Given the description of an element on the screen output the (x, y) to click on. 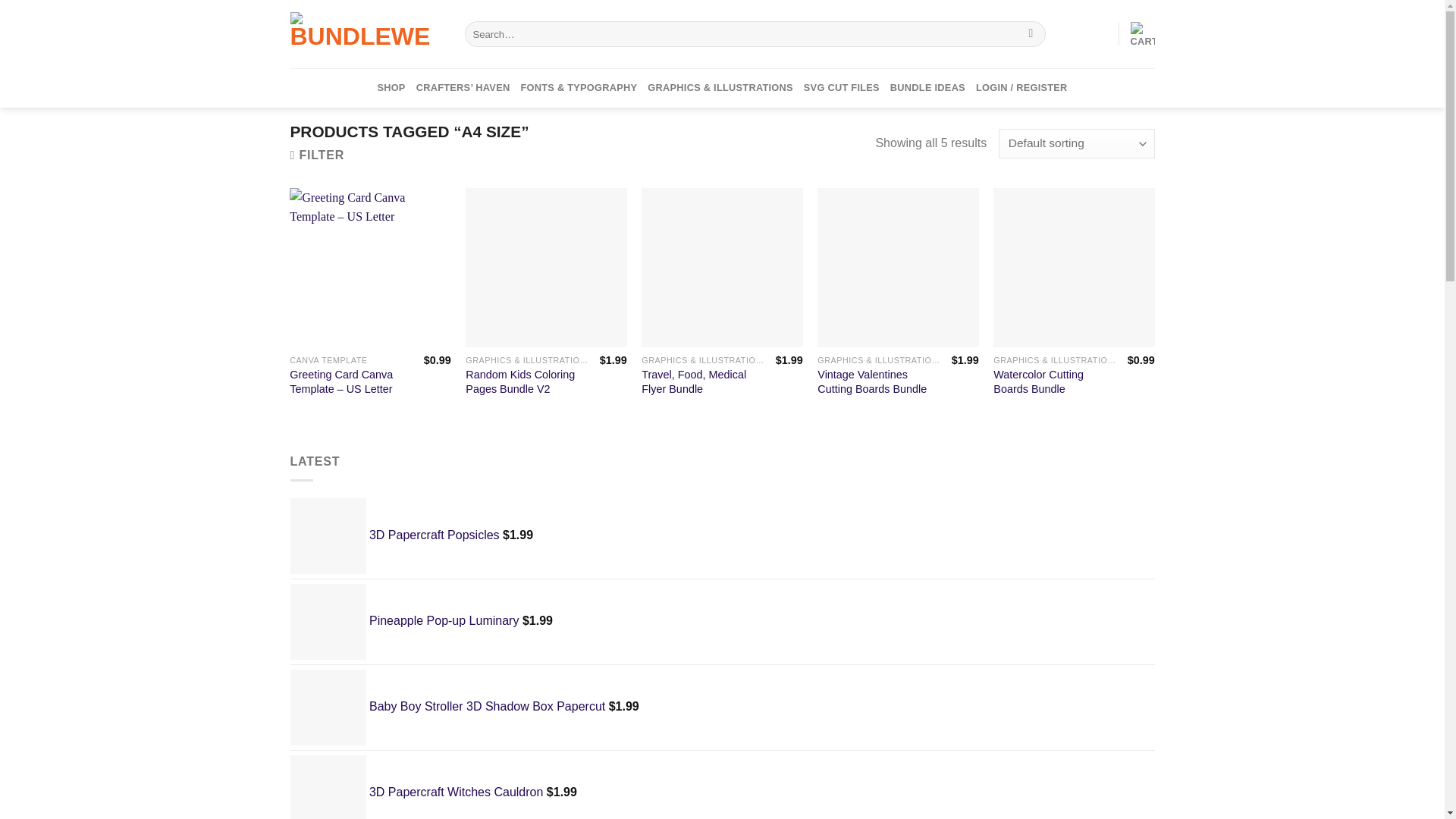
3D Papercraft Popsicles (327, 535)
Random Kids Coloring Pages Bundle V2 (526, 381)
Watercolor Cutting Boards Bundle (1073, 267)
Baby Boy Stroller 3D Shadow Box Papercut (327, 707)
Pineapple Pop-up Luminary (327, 621)
Vintage Valentines Cutting Boards Bundle (897, 267)
FILTER (316, 155)
3D Papercraft Popsicles (394, 535)
Random Kids Coloring Pages Bundle V2 (545, 267)
Travel, Food, Medical Flyer Bundle (722, 267)
